Given the description of an element on the screen output the (x, y) to click on. 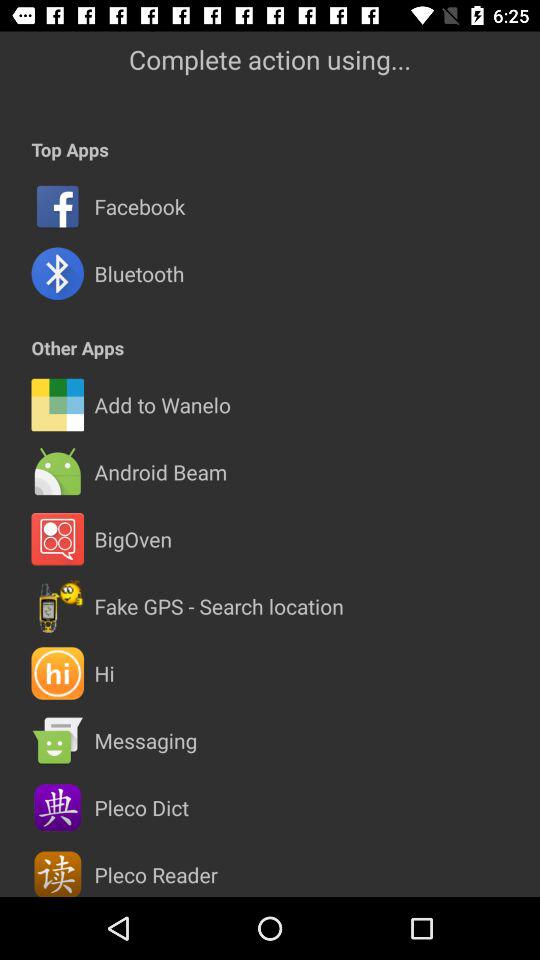
tap the facebook app (139, 206)
